Given the description of an element on the screen output the (x, y) to click on. 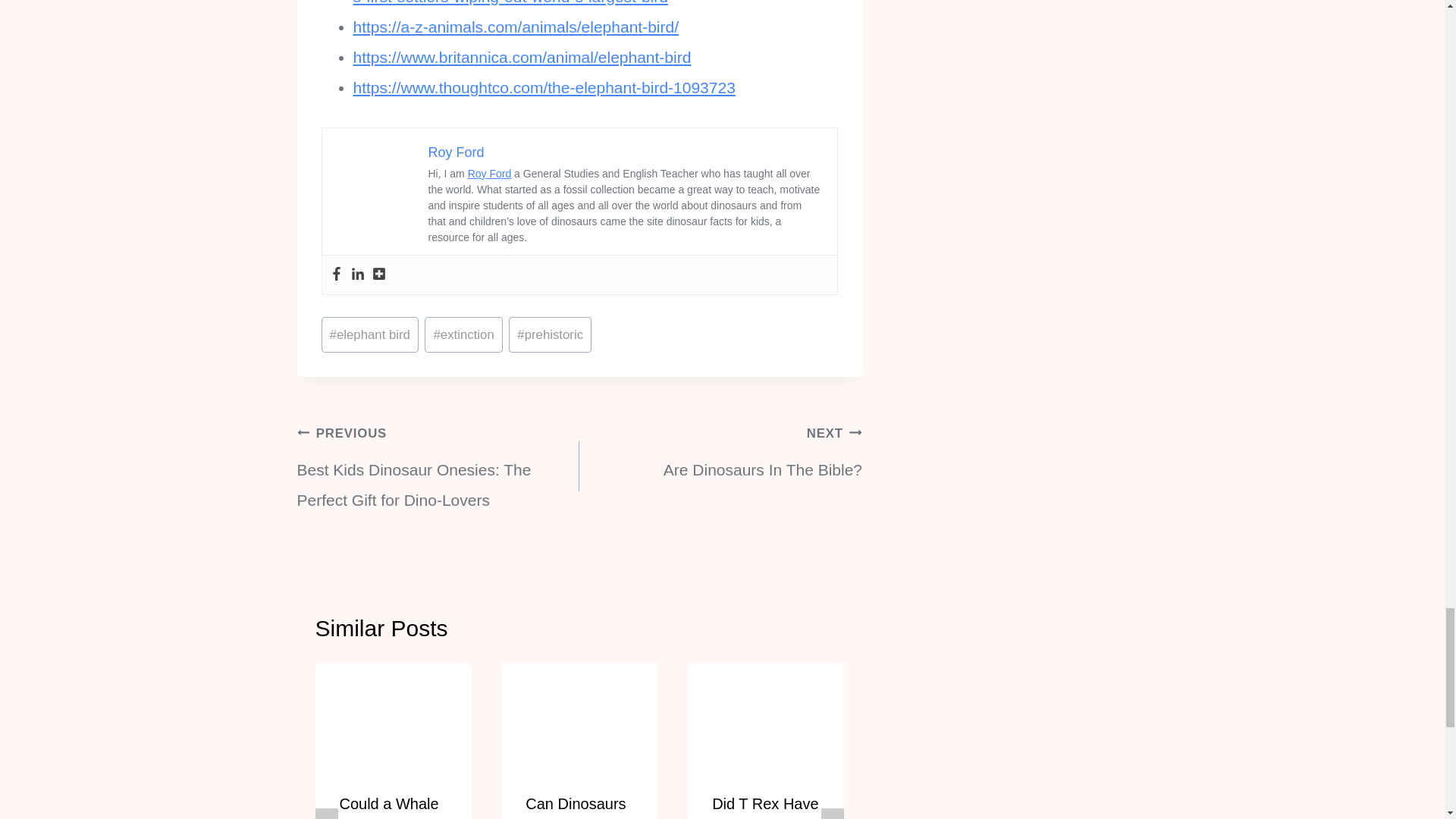
elephant bird (370, 334)
extinction (463, 334)
Roy Ford (455, 151)
prehistoric (549, 334)
Roy Ford (489, 173)
